Given the description of an element on the screen output the (x, y) to click on. 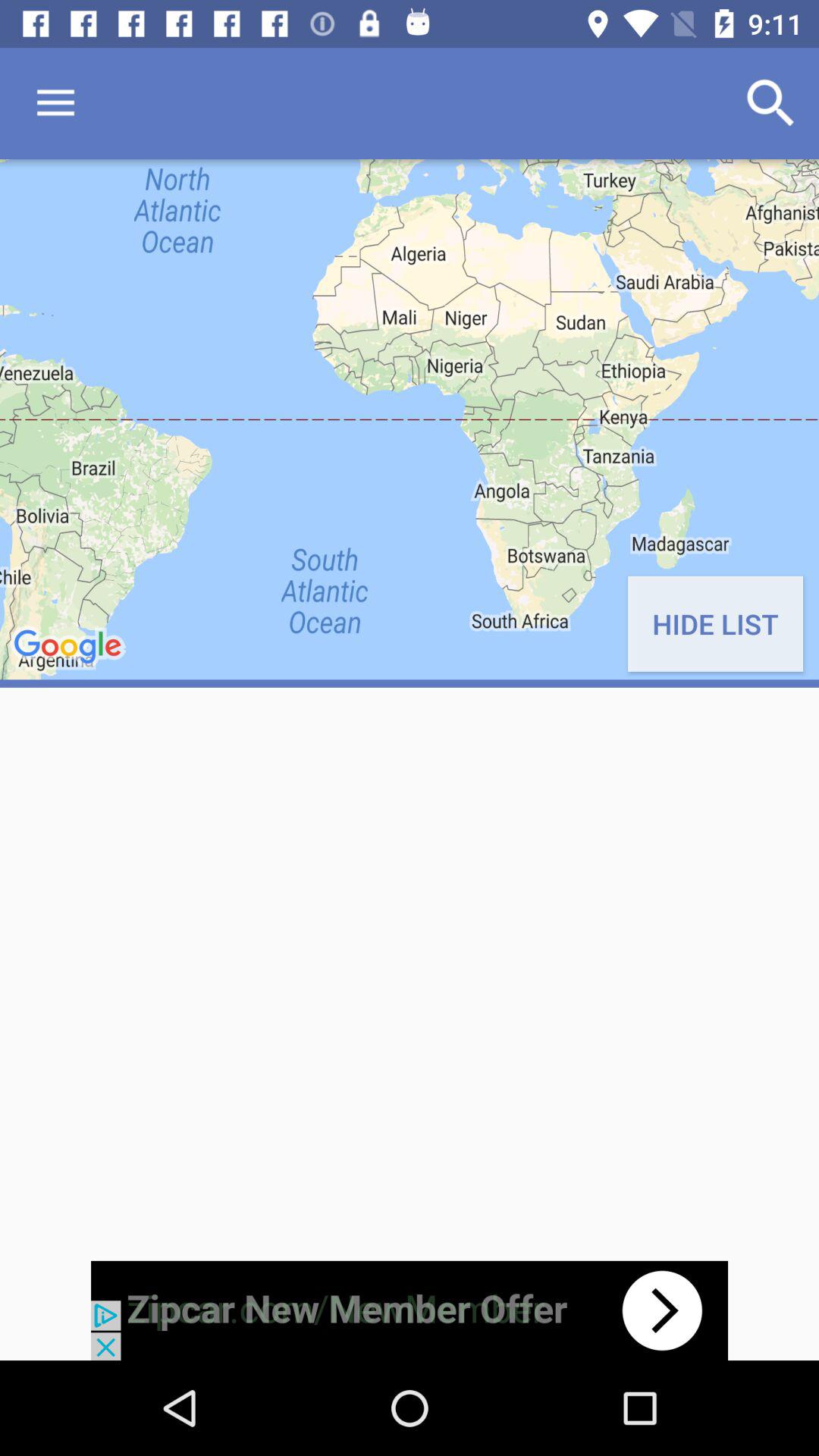
turn off hide list item (715, 623)
